Given the description of an element on the screen output the (x, y) to click on. 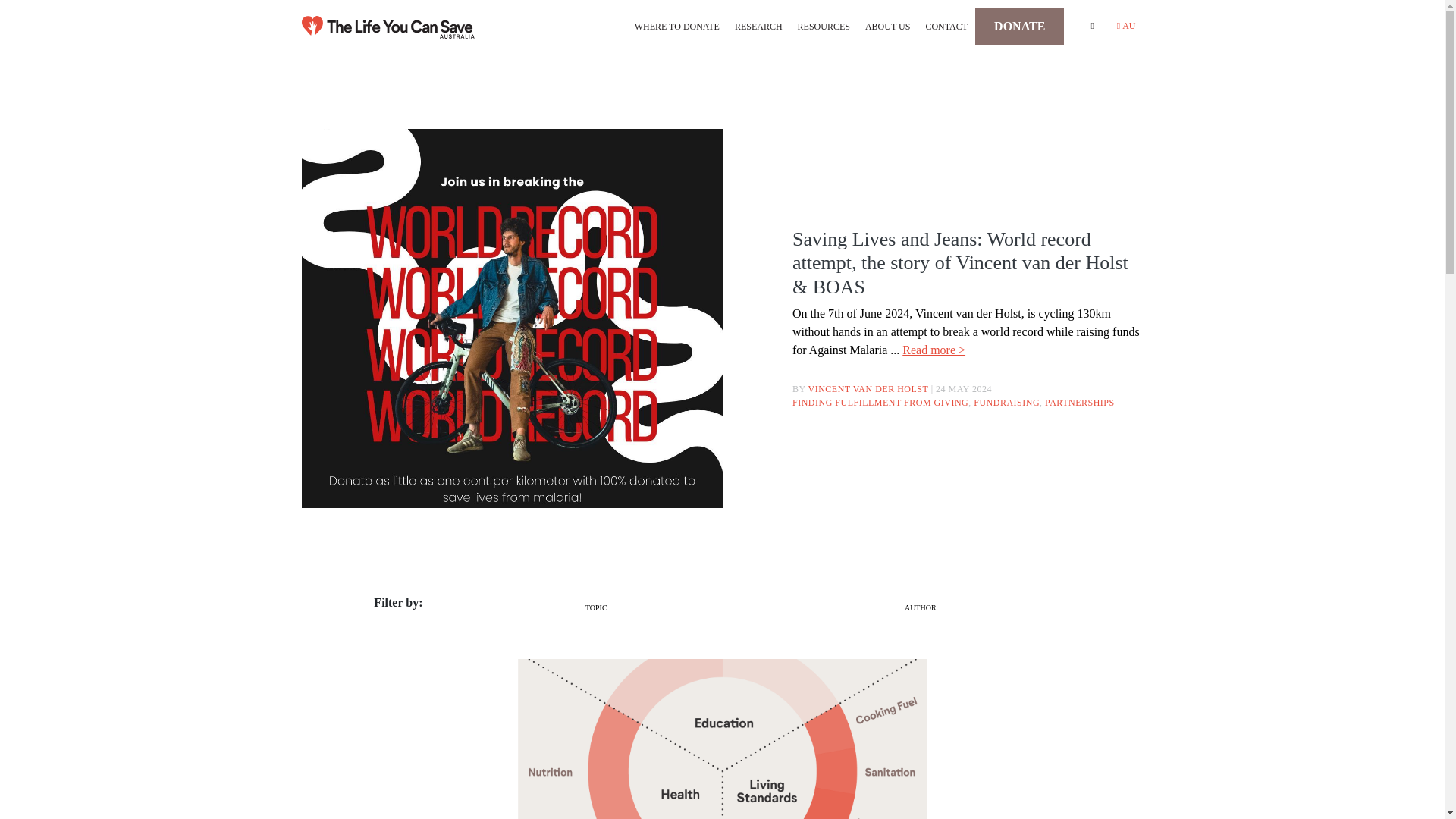
RESEARCH (758, 26)
WHERE TO DONATE (676, 26)
CONTACT (946, 26)
ABOUT US (887, 26)
The Life You Can Save (388, 26)
RESOURCES (823, 26)
